Given the description of an element on the screen output the (x, y) to click on. 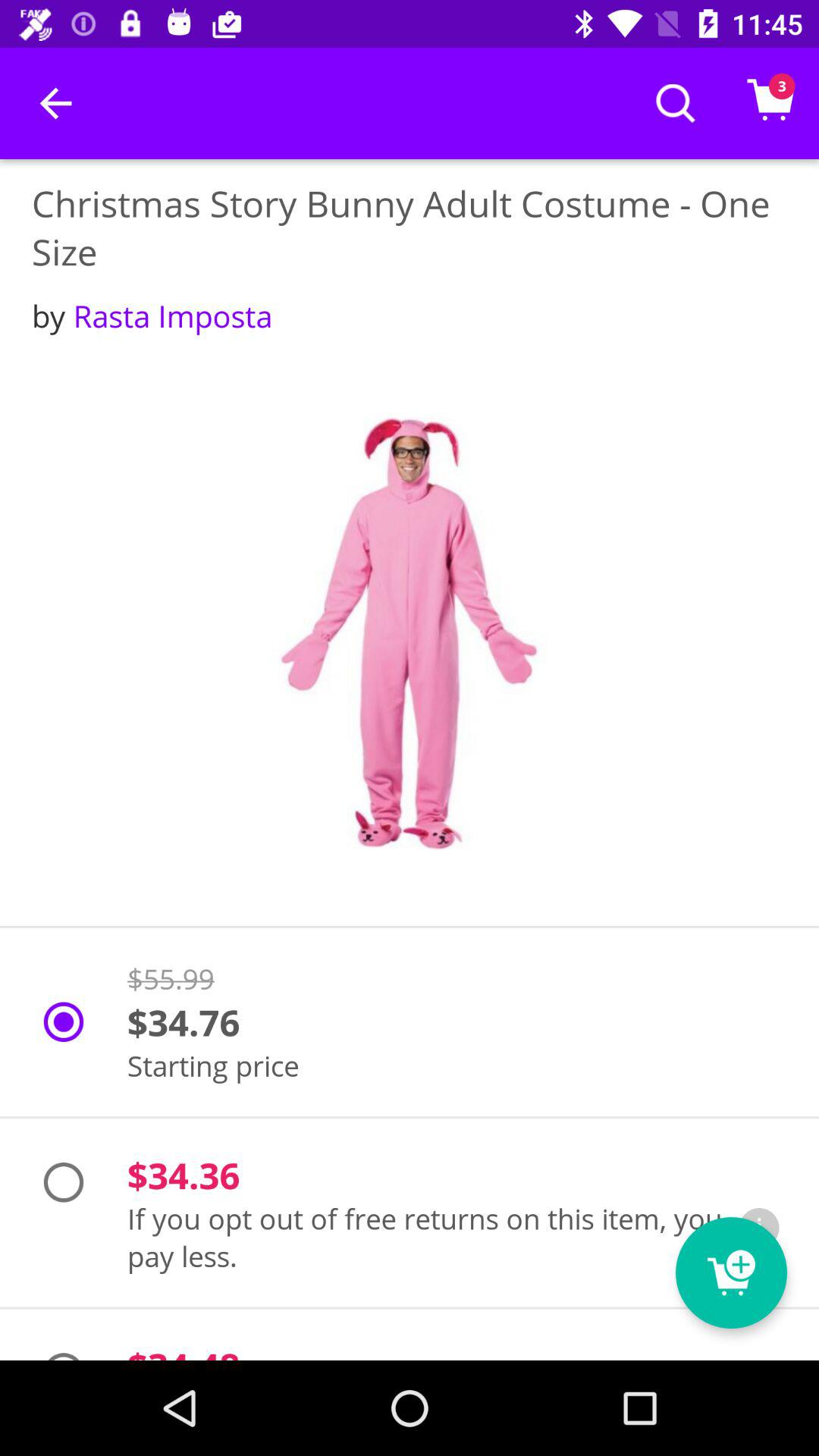
press item below the by rasta imposta (409, 633)
